Given the description of an element on the screen output the (x, y) to click on. 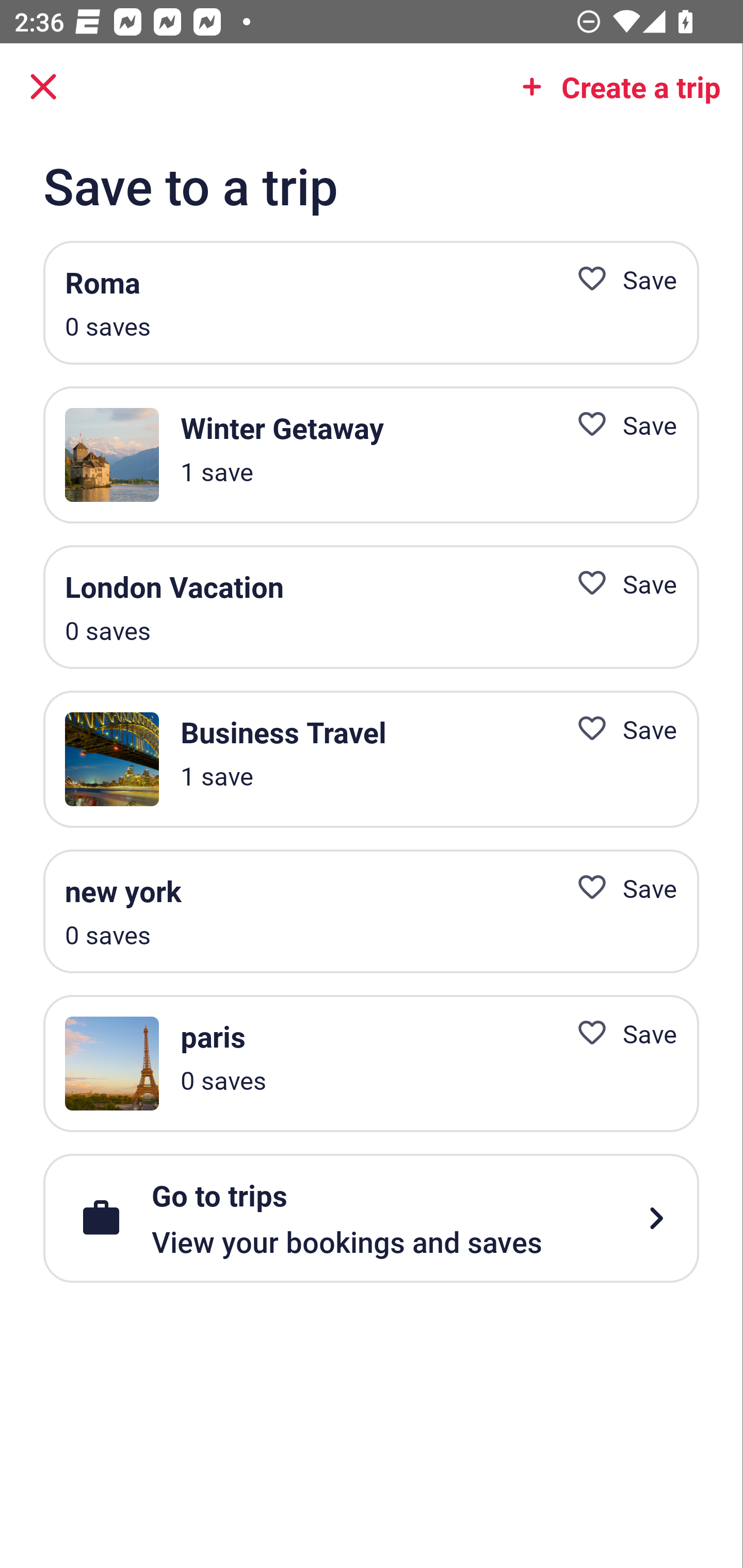
Close (43, 86)
Add Icon Create a trip (615, 86)
Favorite Icon Save (619, 279)
Roma 0 saves Favorite Icon Save (371, 303)
Favorite Icon Save (619, 424)
Favorite Icon Save (619, 583)
London Vacation 0 saves Favorite Icon Save (371, 607)
Favorite Icon Save (619, 729)
Favorite Icon Save (619, 888)
new york 0 saves Favorite Icon Save (371, 911)
Favorite Icon Save (619, 1033)
